Given the description of an element on the screen output the (x, y) to click on. 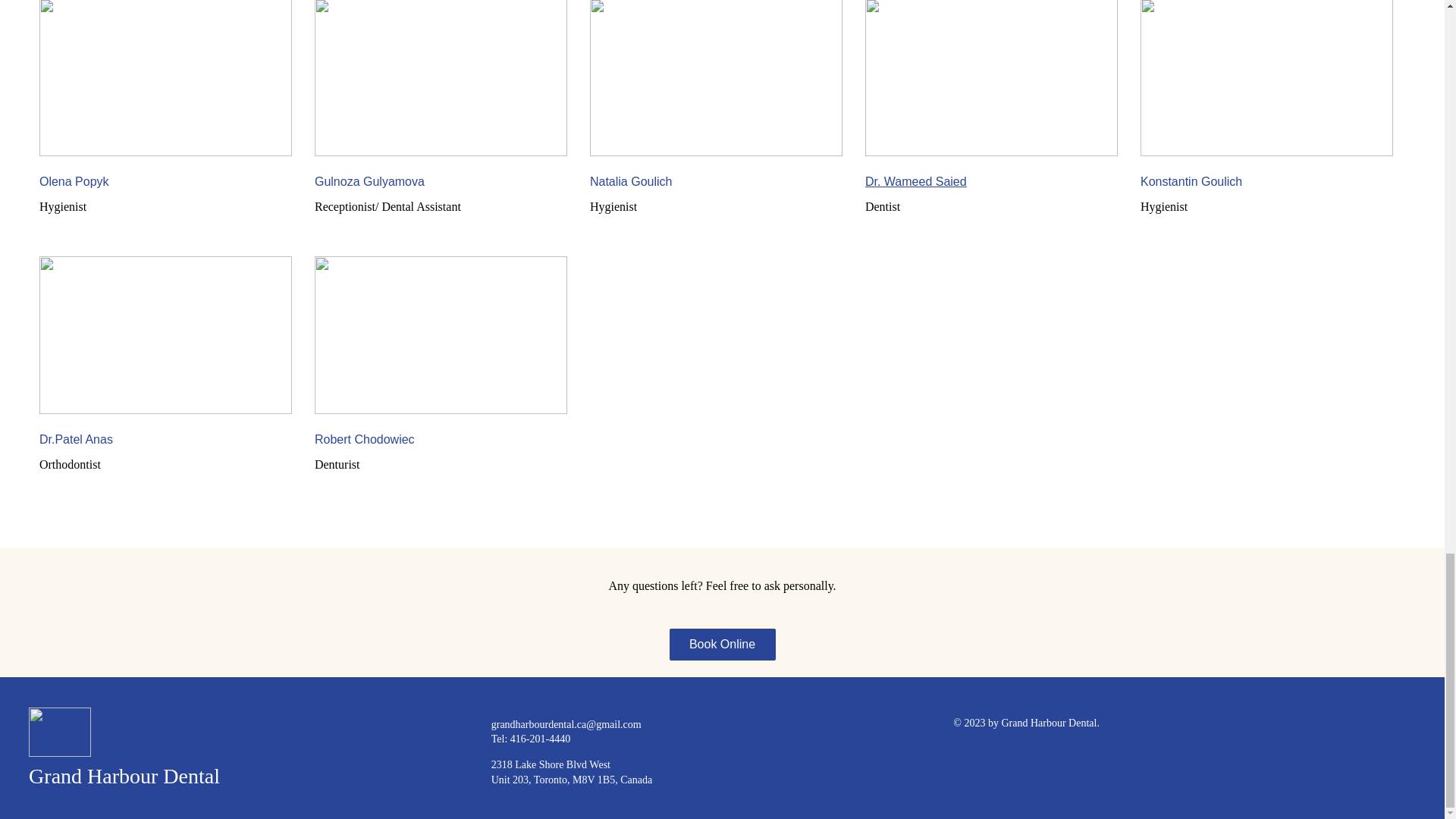
416-201-4440 (540, 738)
Grand Harbour Dental (124, 775)
Dr. Wameed Saied (915, 181)
Book Online (721, 644)
